Given the description of an element on the screen output the (x, y) to click on. 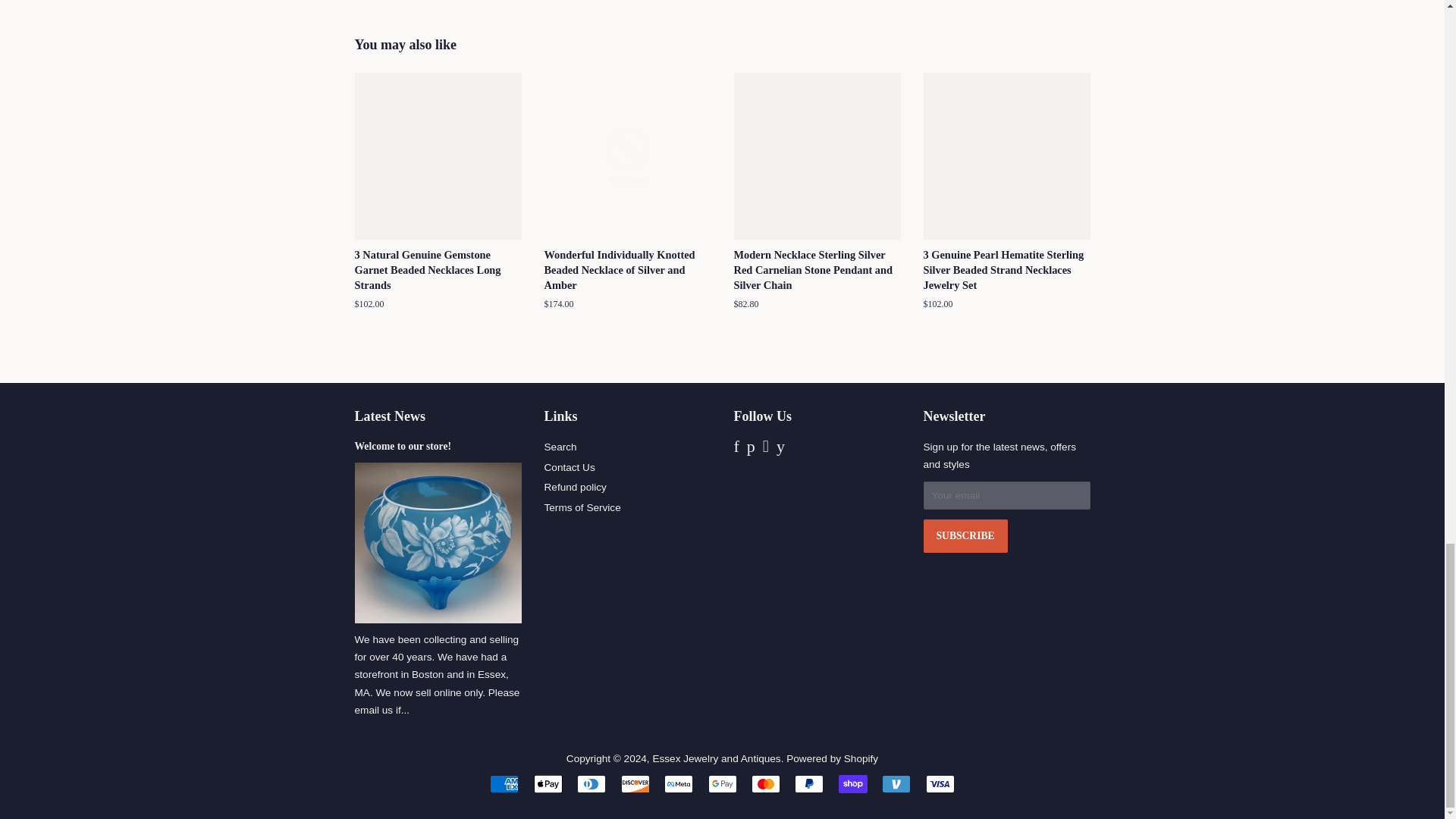
Apple Pay (548, 783)
PayPal (809, 783)
Shop Pay (852, 783)
Visa (940, 783)
Google Pay (721, 783)
Discover (635, 783)
Essex Jewelry and Antiques on Instagram (765, 448)
Diners Club (590, 783)
Venmo (896, 783)
American Express (503, 783)
Subscribe (965, 535)
Essex Jewelry and Antiques on Facebook (736, 448)
Essex Jewelry and Antiques on Pinterest (750, 448)
Meta Pay (678, 783)
Essex Jewelry and Antiques on YouTube (780, 448)
